Given the description of an element on the screen output the (x, y) to click on. 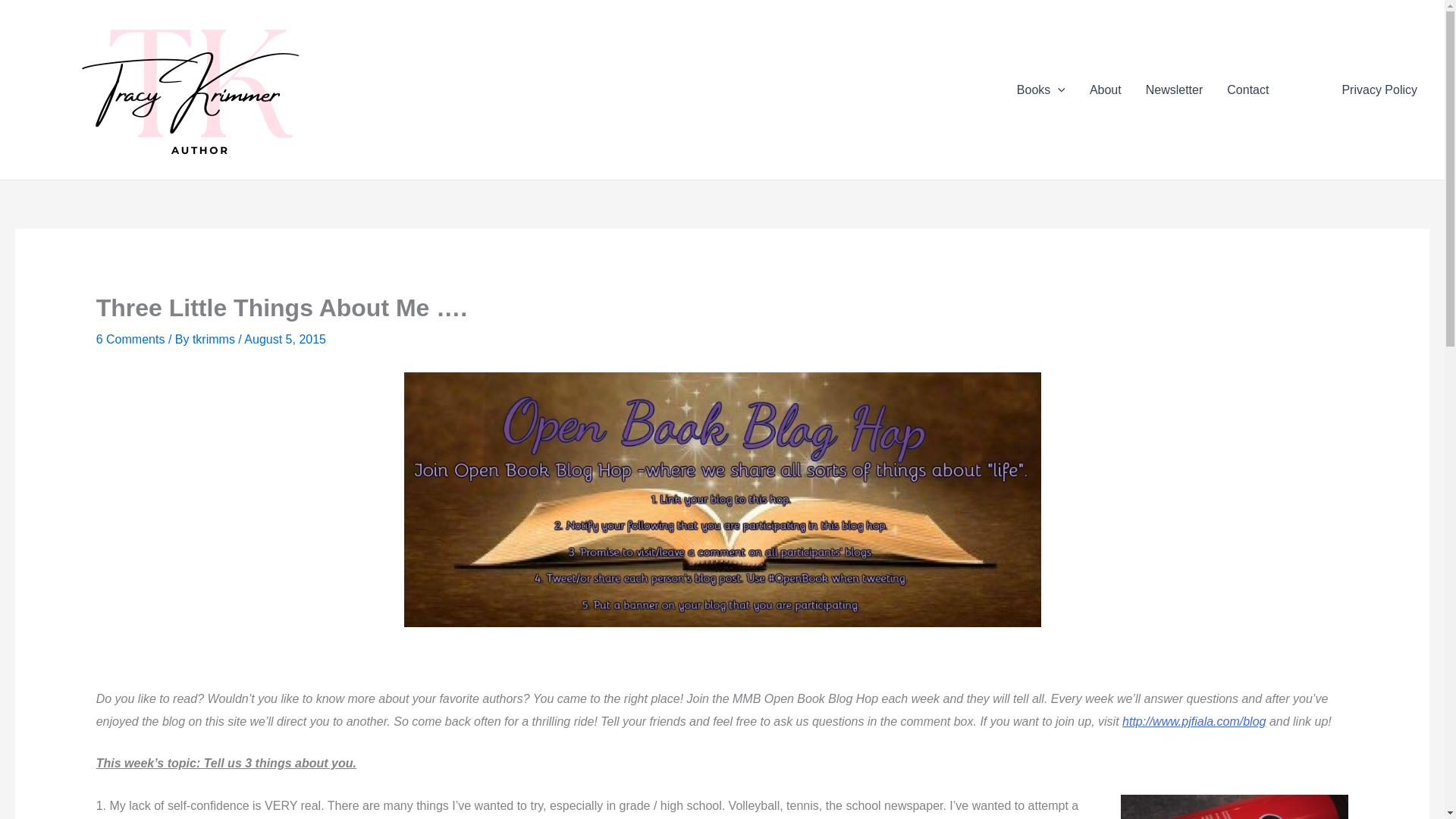
Newsletter (1174, 88)
Privacy Policy (1379, 88)
View all posts by tkrimms (215, 338)
About (1105, 88)
Contact (1247, 88)
Books (1040, 88)
